Given the description of an element on the screen output the (x, y) to click on. 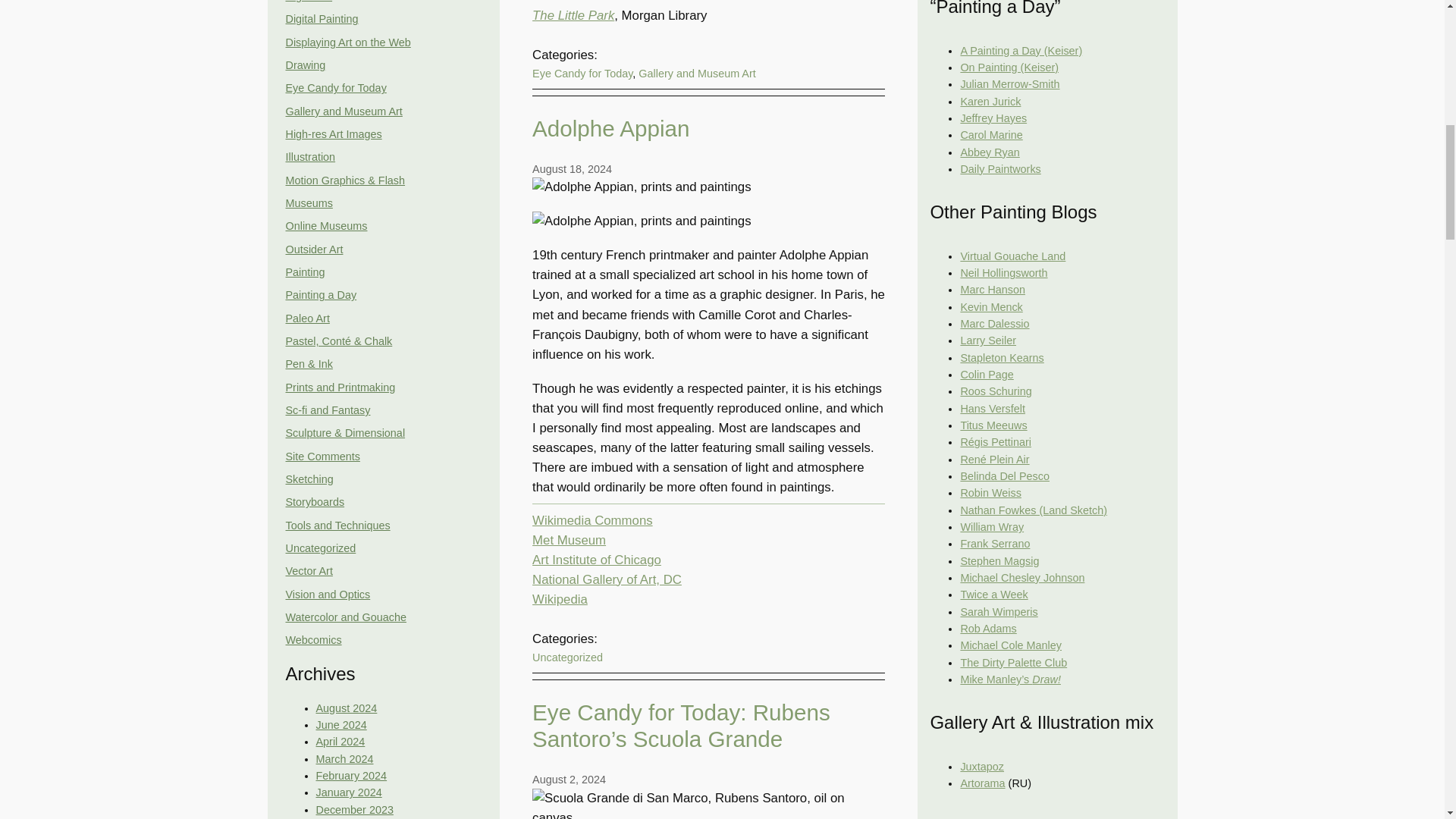
Uncategorized (320, 548)
Site Comments (322, 456)
Eye Candy for Today (335, 87)
Sketching (309, 479)
Tools and Techniques (337, 525)
Paleo Art (307, 318)
Museums (308, 203)
Illustration (309, 156)
Storyboards (314, 501)
Displaying Art on the Web (347, 42)
